Given the description of an element on the screen output the (x, y) to click on. 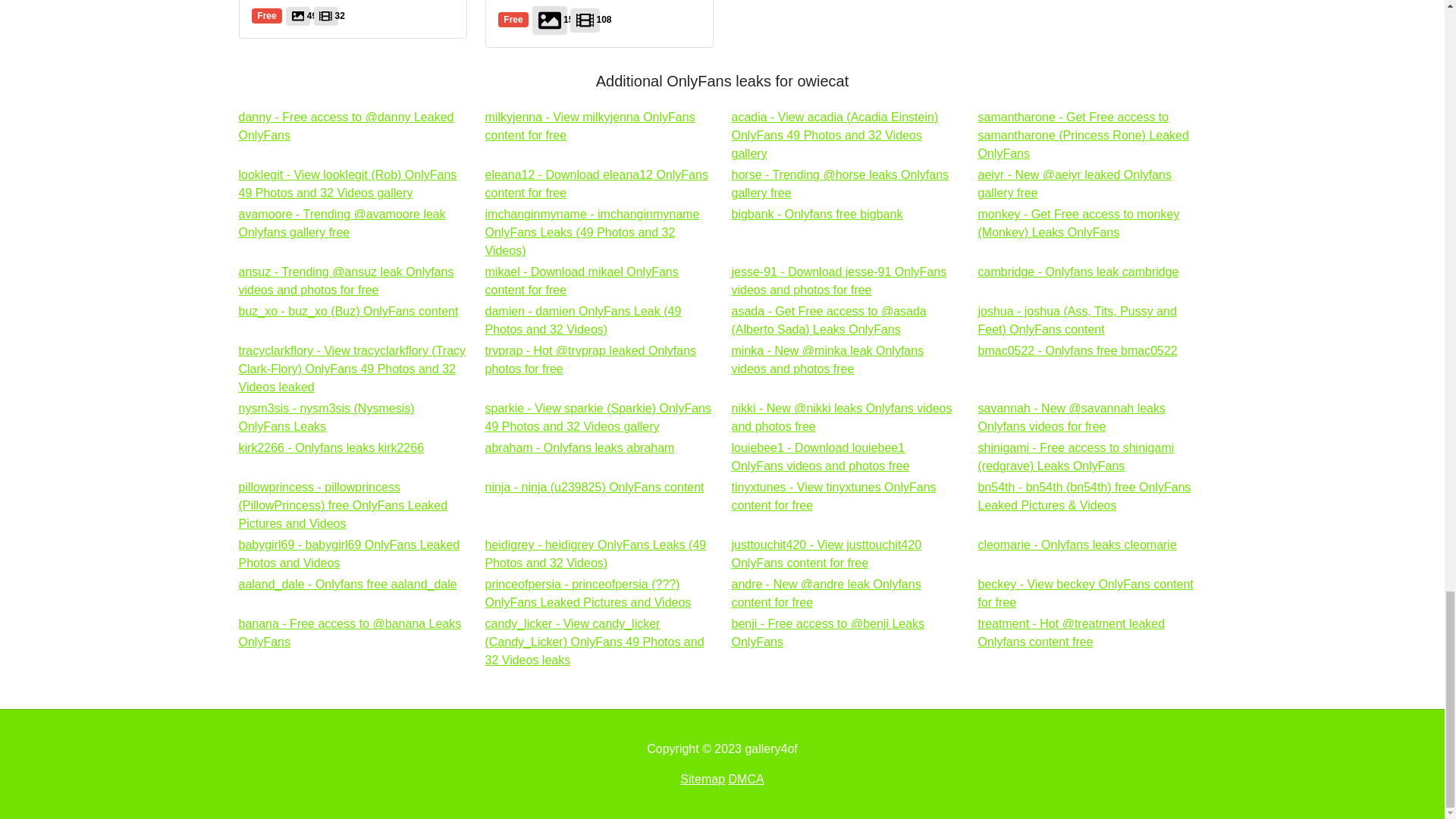
bigbank - Onlyfans free bigbank (816, 214)
eleana12 - Download eleana12 OnlyFans content for free (595, 183)
milkyjenna - View milkyjenna OnlyFans content for free (838, 280)
